Given the description of an element on the screen output the (x, y) to click on. 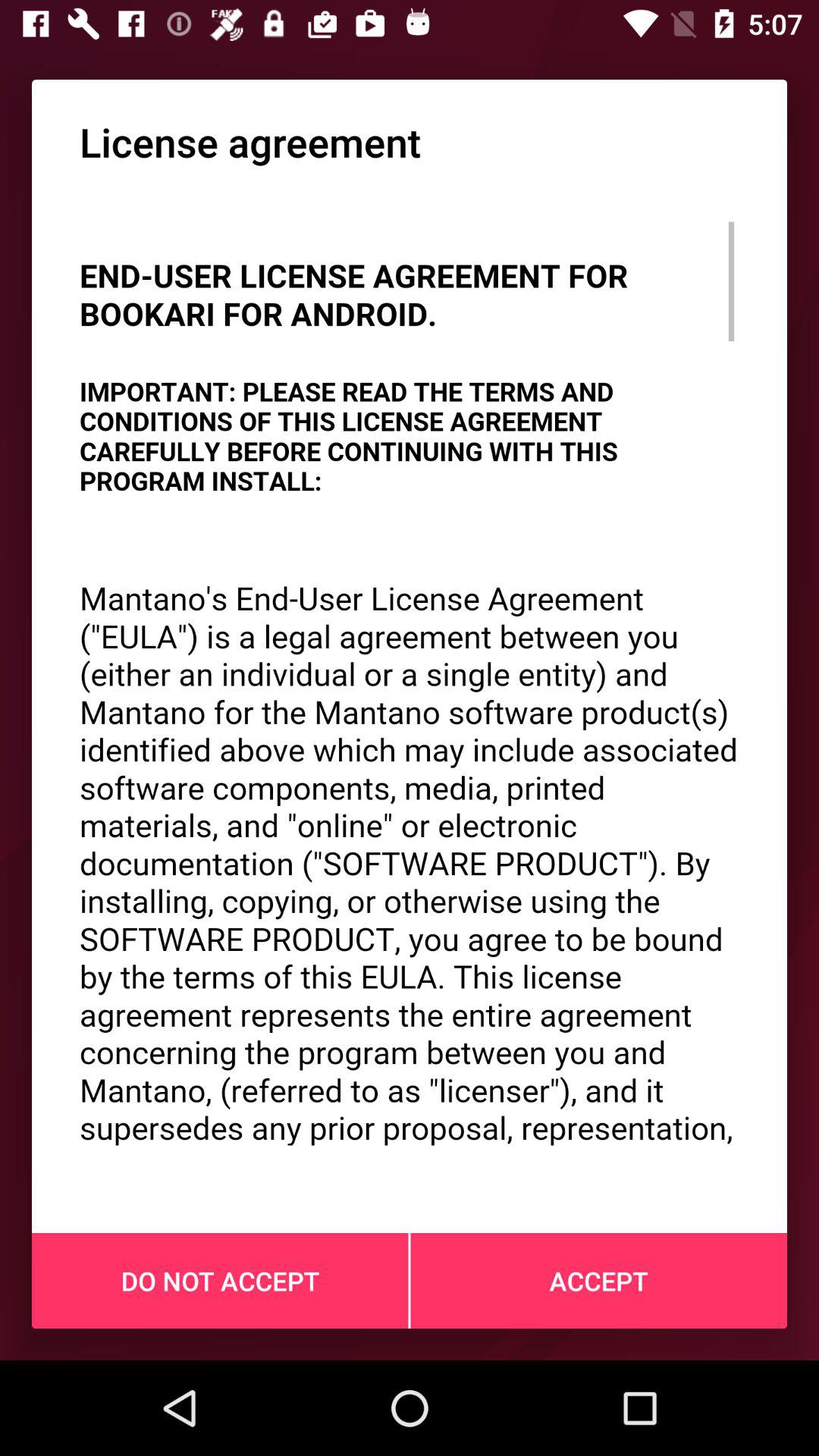
turn off the item above do not accept icon (409, 680)
